Given the description of an element on the screen output the (x, y) to click on. 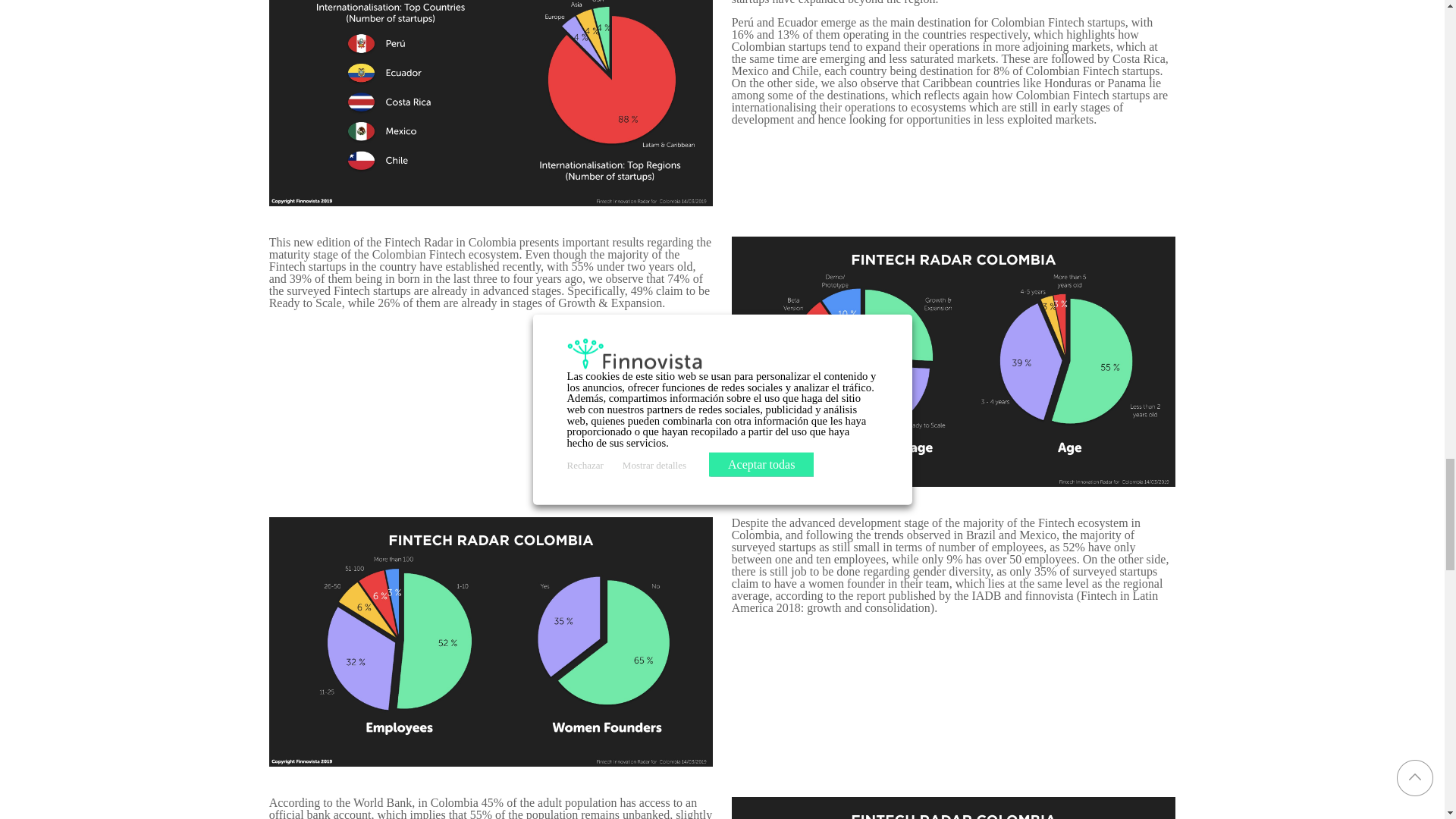
7-Maturity-Age.001 (954, 361)
8-Employees-Women-Founders-.001 (491, 641)
6-Top-International-countries-region.001 (491, 103)
9-Target-Technology.001 (954, 807)
